Given the description of an element on the screen output the (x, y) to click on. 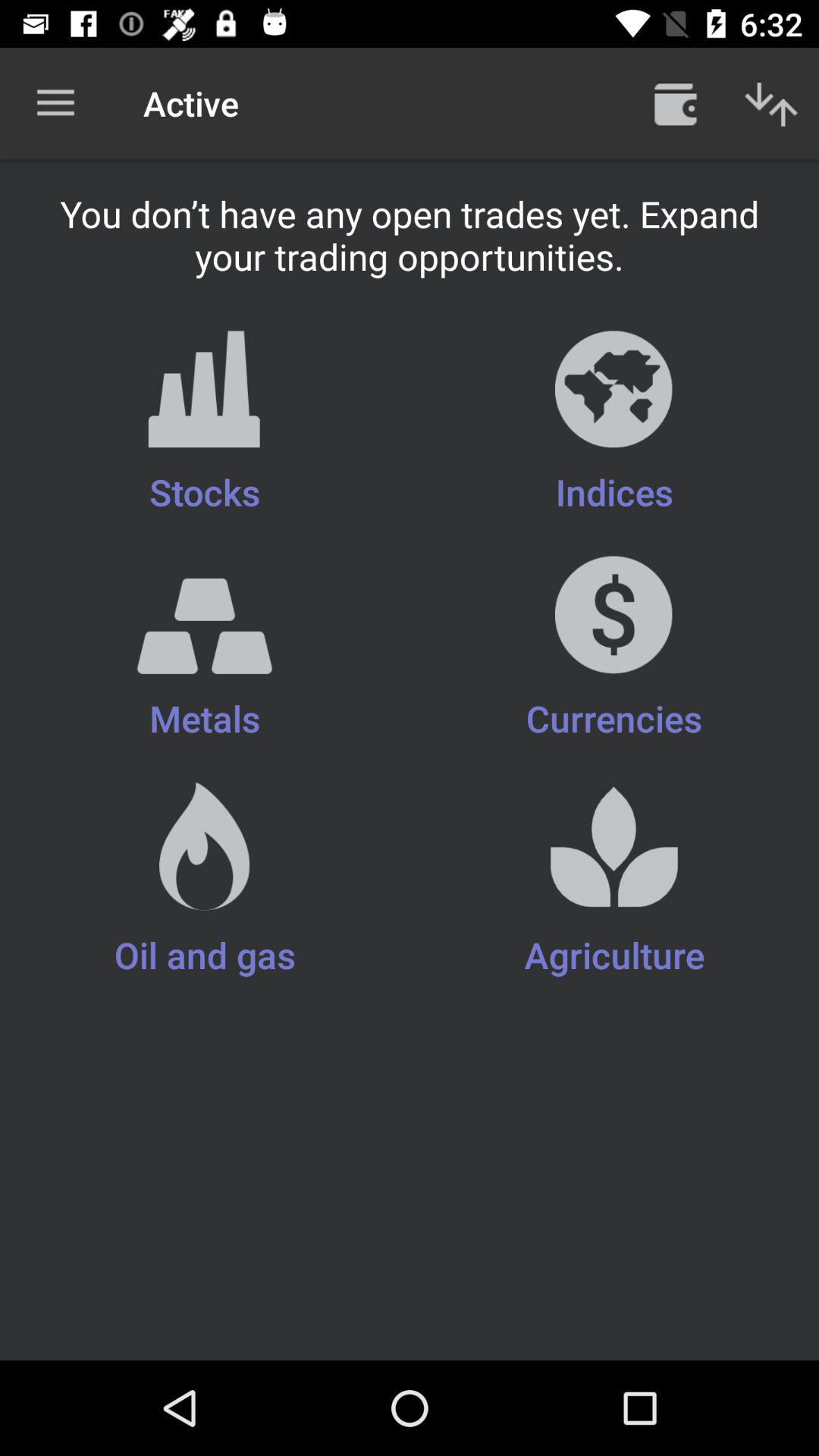
open icon next to stocks item (614, 423)
